Given the description of an element on the screen output the (x, y) to click on. 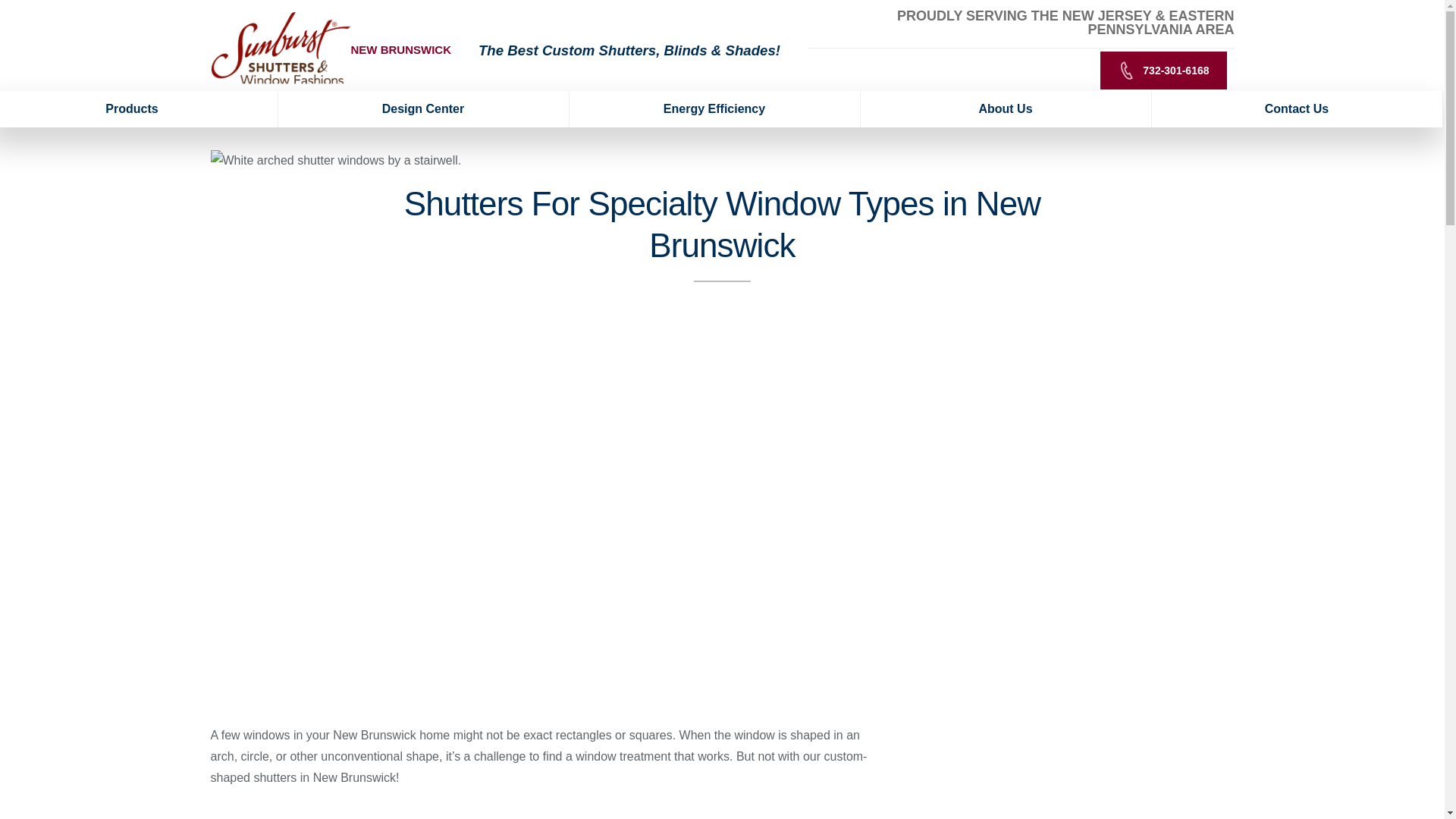
Sunburst Shutters New Brunswick Home (280, 48)
Products (139, 108)
Design Center (423, 108)
732-301-6168 (1162, 70)
